Given the description of an element on the screen output the (x, y) to click on. 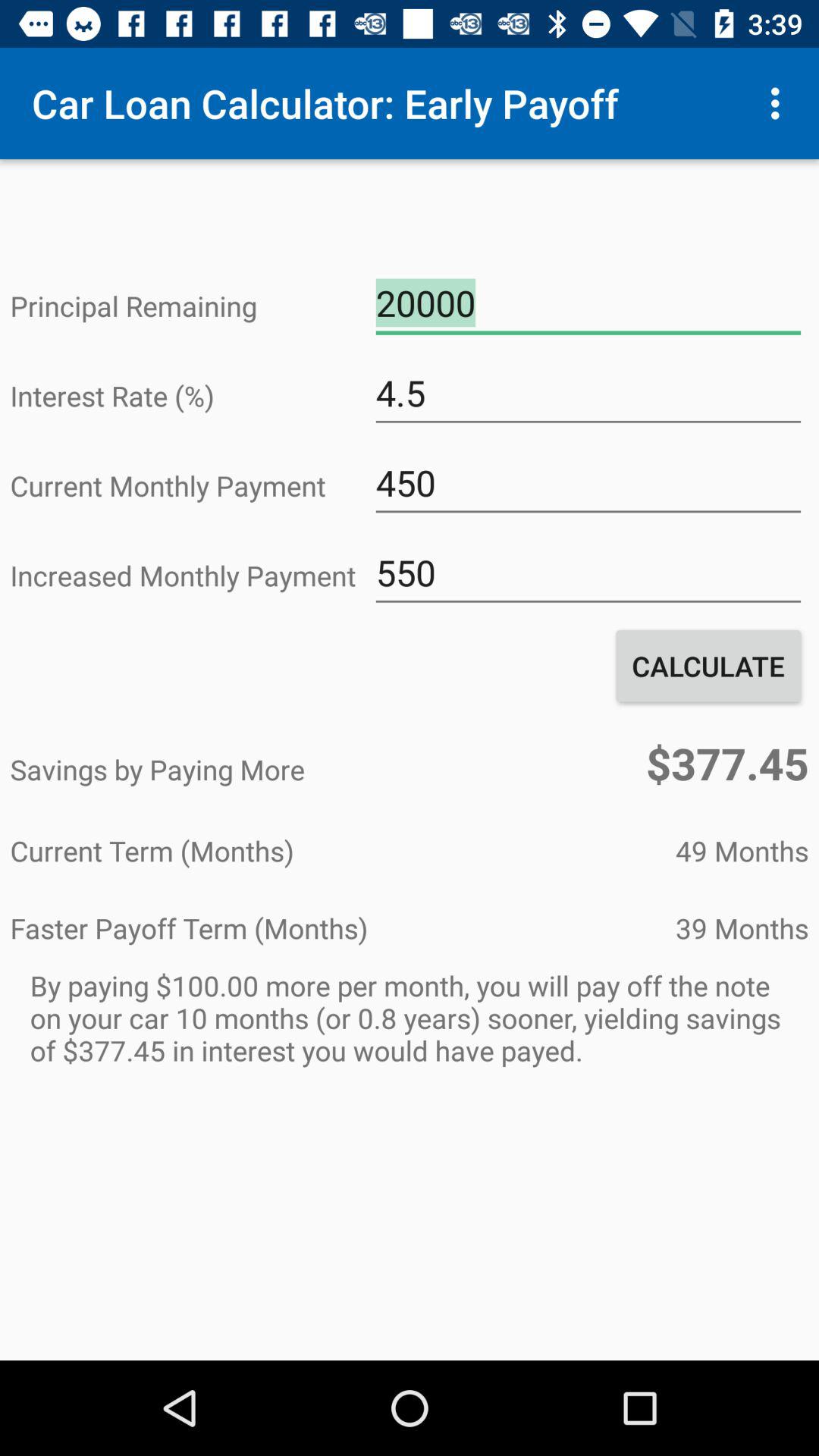
jump until the 4.5 icon (587, 393)
